Given the description of an element on the screen output the (x, y) to click on. 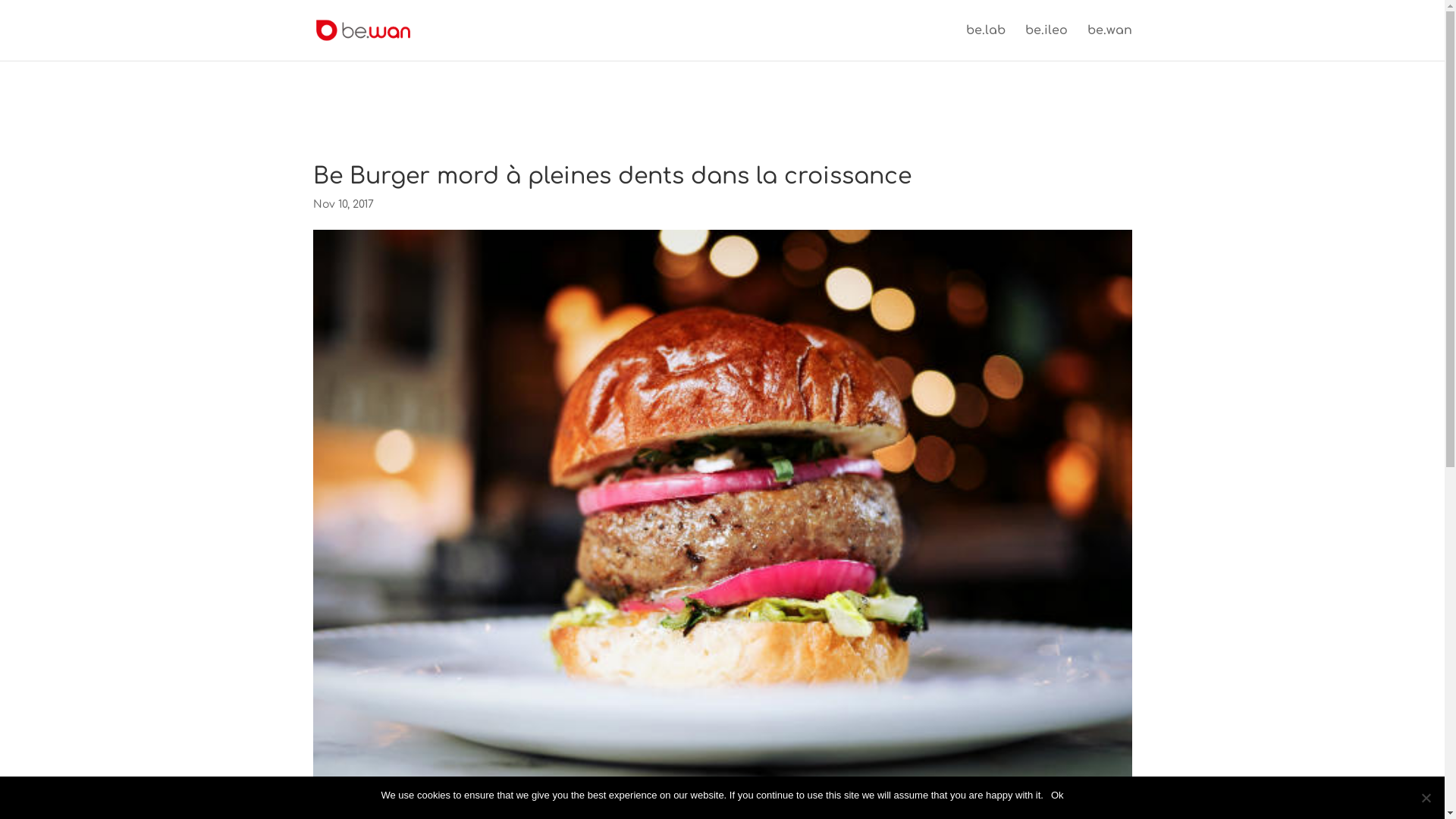
No Element type: hover (1425, 797)
be.lab Element type: text (985, 42)
be.wan Element type: text (1109, 42)
Ok Element type: text (1057, 795)
be.ileo Element type: text (1046, 42)
